Given the description of an element on the screen output the (x, y) to click on. 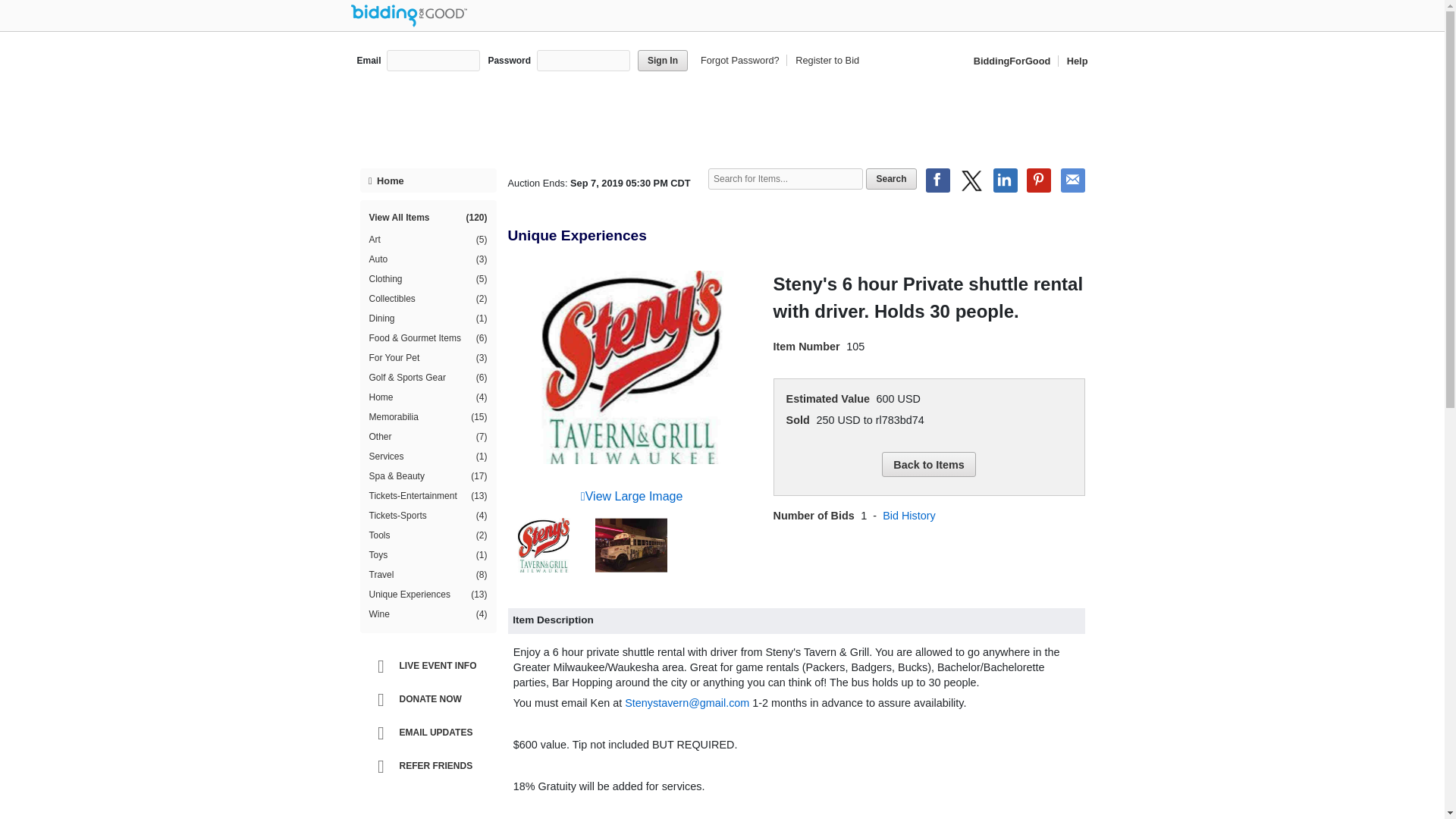
LinkedIn (1004, 180)
Search (890, 178)
Sign In (662, 60)
Help (1074, 60)
LIVE EVENT INFO (431, 666)
Search (890, 178)
Pinterest (1038, 180)
DONATE NOW (431, 699)
Sign In (662, 60)
Home (427, 180)
Register to Bid (824, 60)
Forgot Password? (741, 60)
Facebook (938, 180)
EMAIL UPDATES (431, 732)
